Given the description of an element on the screen output the (x, y) to click on. 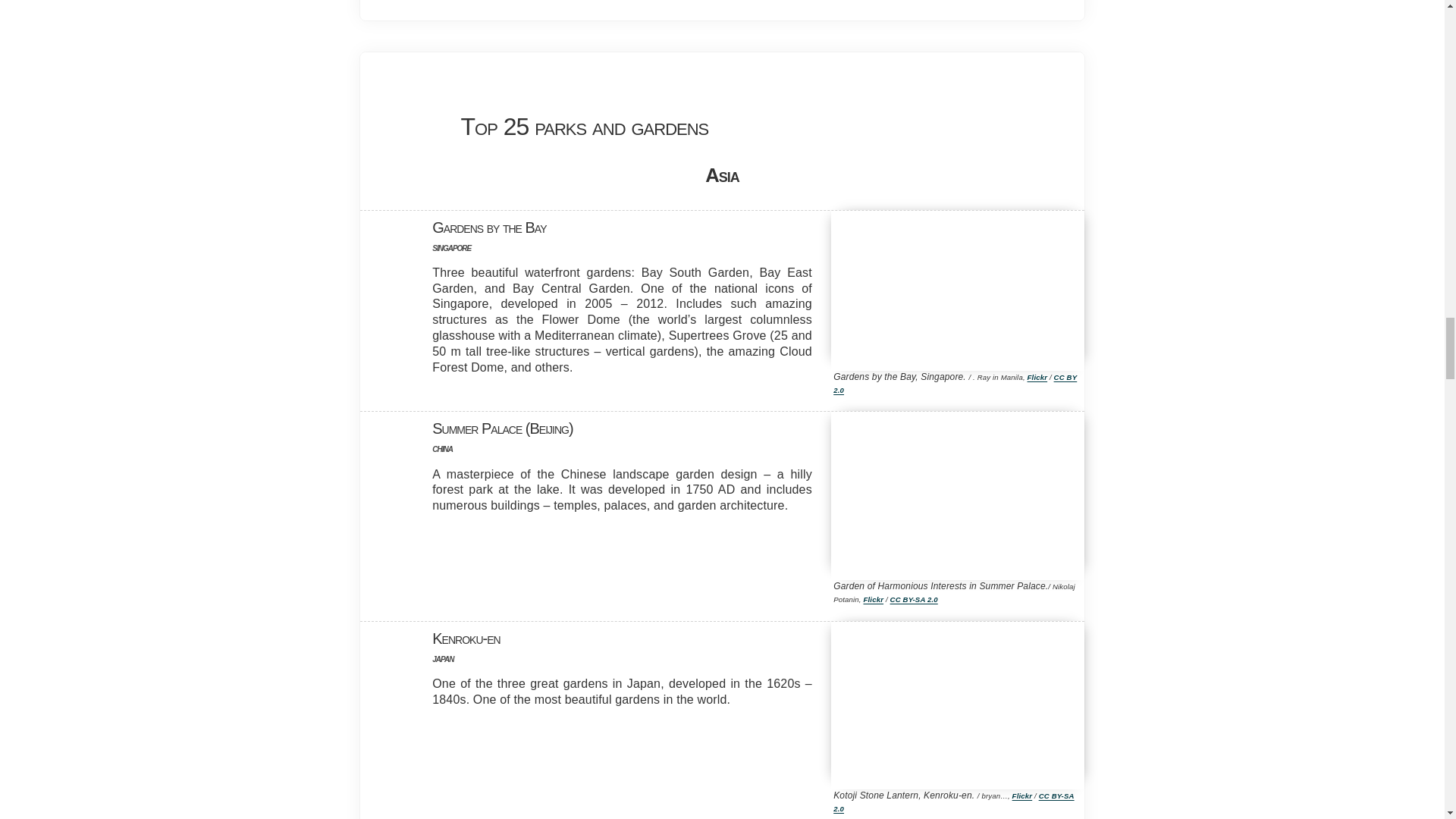
Flickr (873, 599)
Flickr (1021, 795)
CC BY-SA 2.0 (953, 802)
CC BY-SA 2.0 (913, 599)
Flickr (1037, 377)
CC BY 2.0 (954, 383)
